Given the description of an element on the screen output the (x, y) to click on. 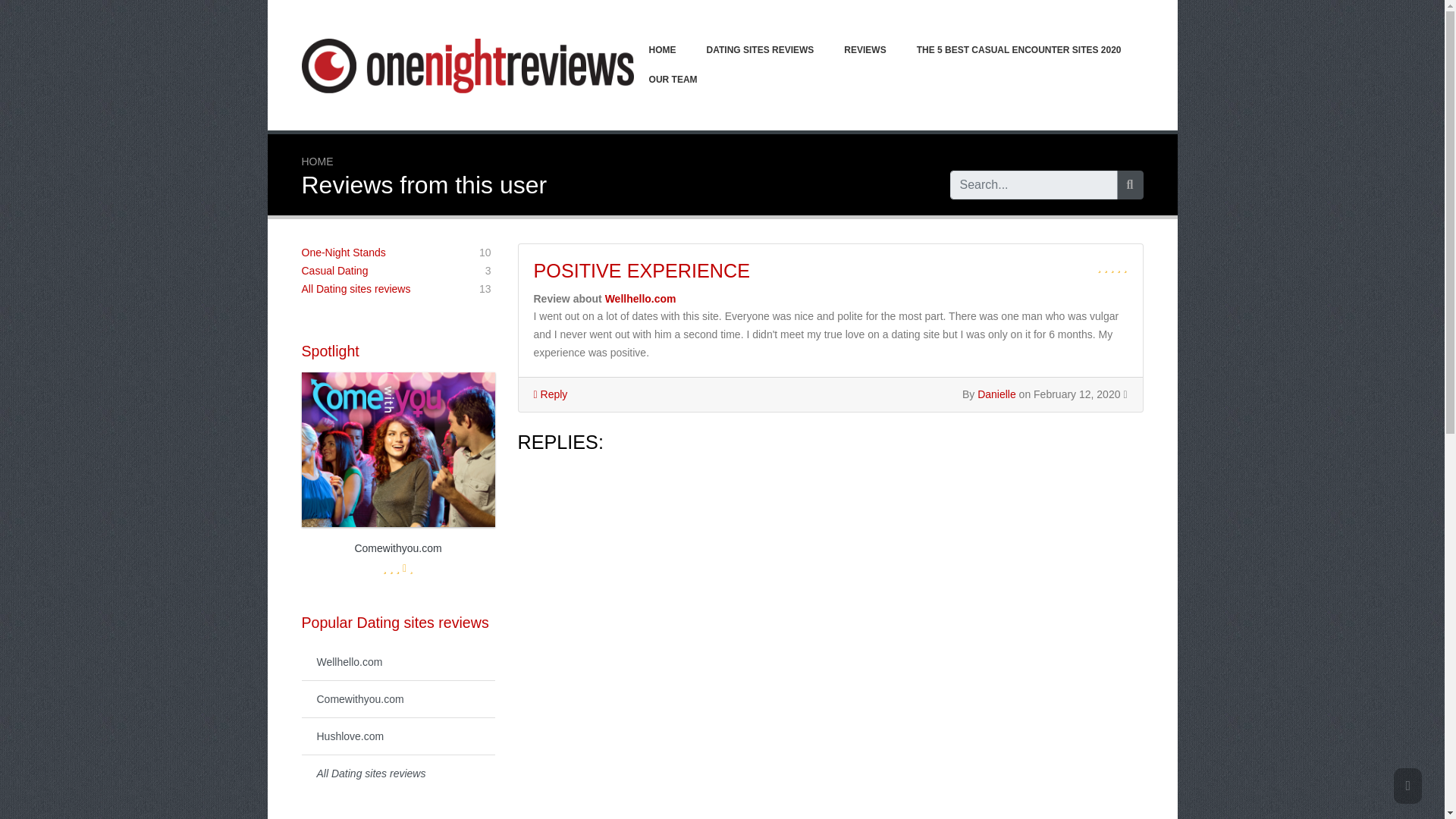
POSITIVE EXPERIENCE (642, 270)
Onenightreviews.com (467, 65)
Comewithyou.com (398, 699)
Comewithyou.com (398, 501)
Wellhello.com (398, 661)
Casual dating and hookup sites reviews (334, 270)
Complete List (317, 161)
Wellhello.com (398, 772)
REVIEWS (641, 298)
DATING SITES REVIEWS (864, 50)
HOME (343, 252)
Comewithyou.com (760, 50)
